Given the description of an element on the screen output the (x, y) to click on. 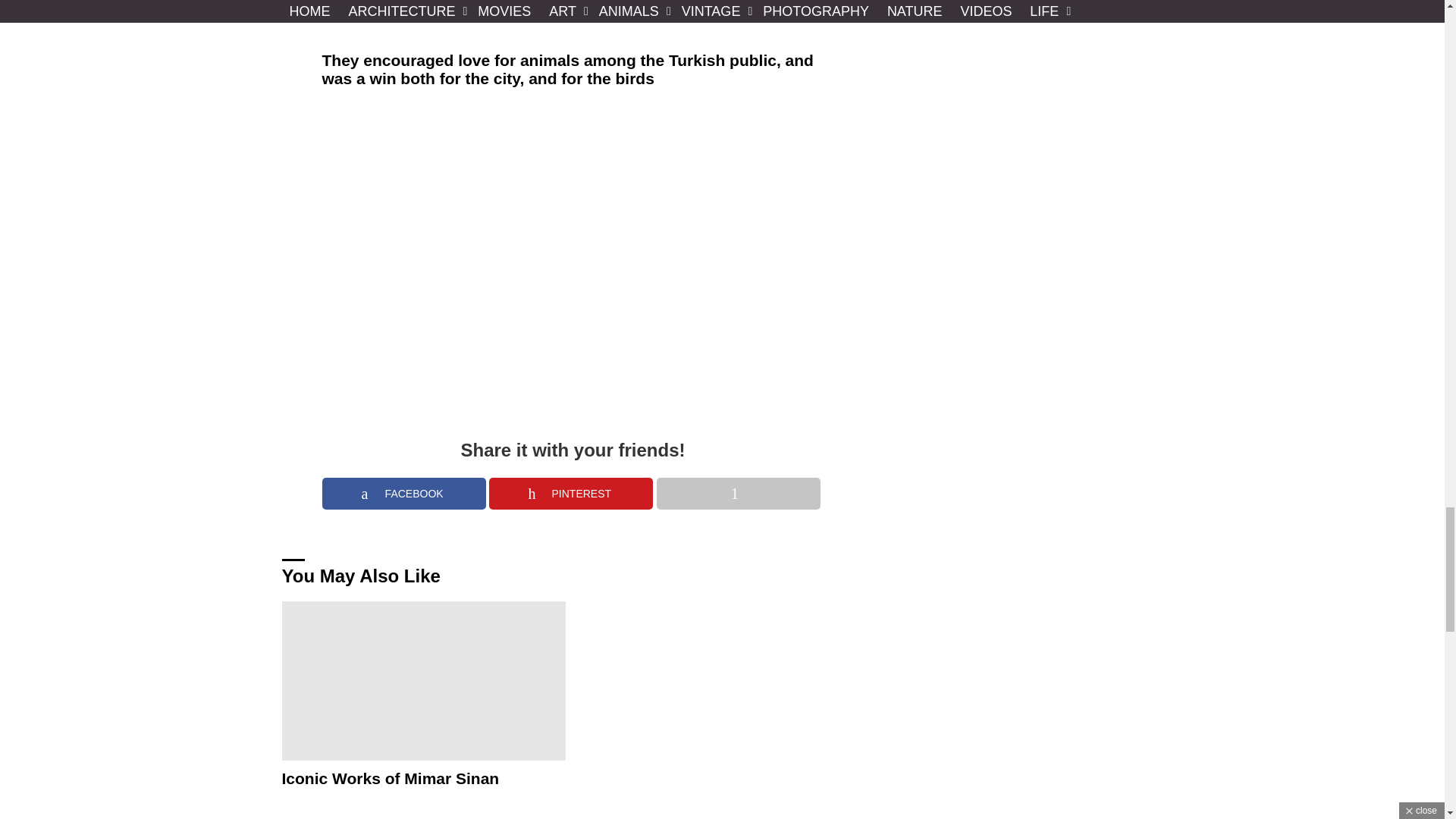
Share on More Button (738, 493)
Share on Facebook (403, 493)
Share on Pinterest (570, 493)
